Given the description of an element on the screen output the (x, y) to click on. 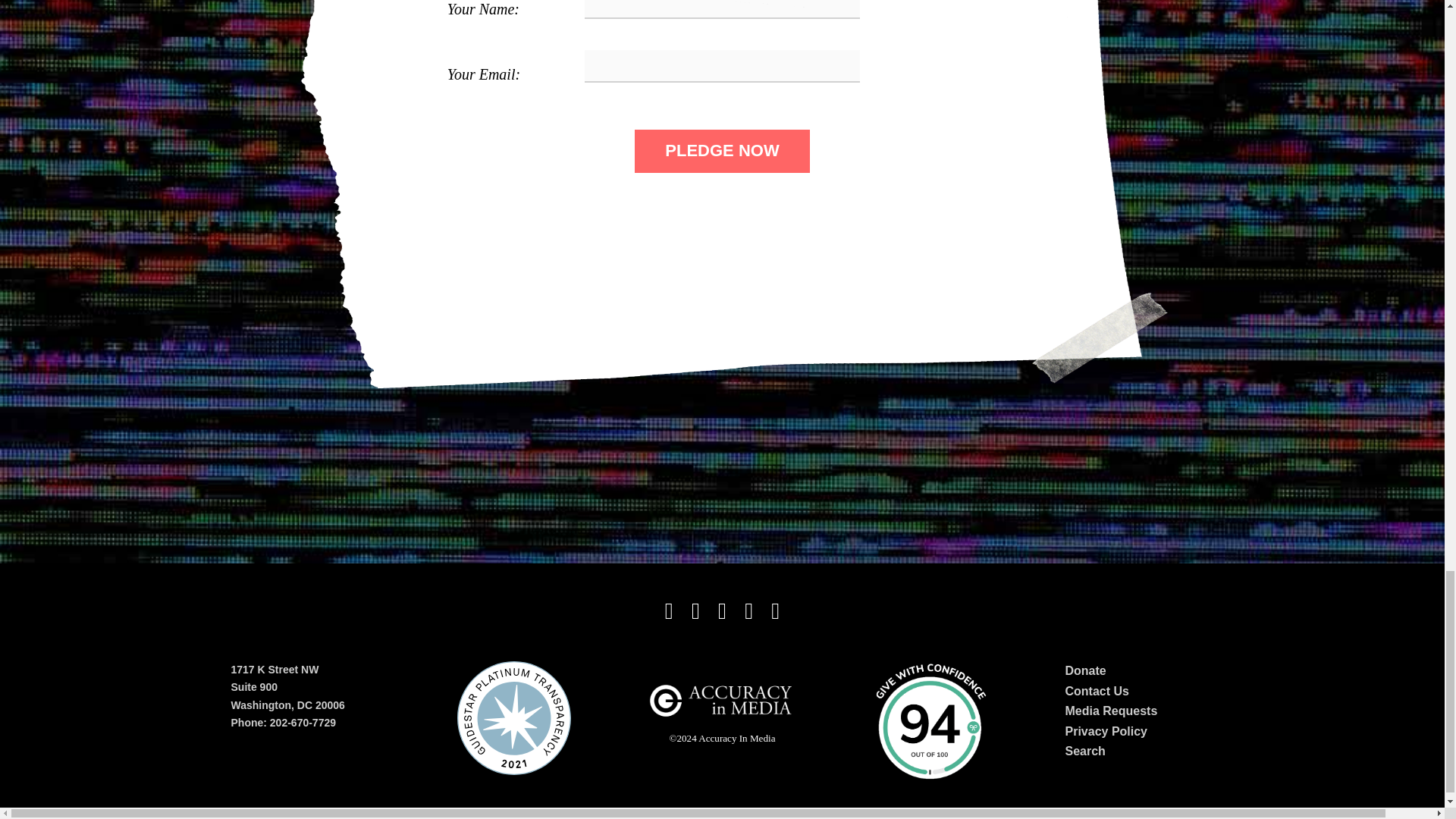
Media Requests (1110, 710)
Privacy Policy (1105, 730)
PLEDGE NOW (721, 150)
Donate (1084, 670)
Search (1084, 750)
Contact Us (1096, 690)
PLEDGE NOW (721, 150)
